Given the description of an element on the screen output the (x, y) to click on. 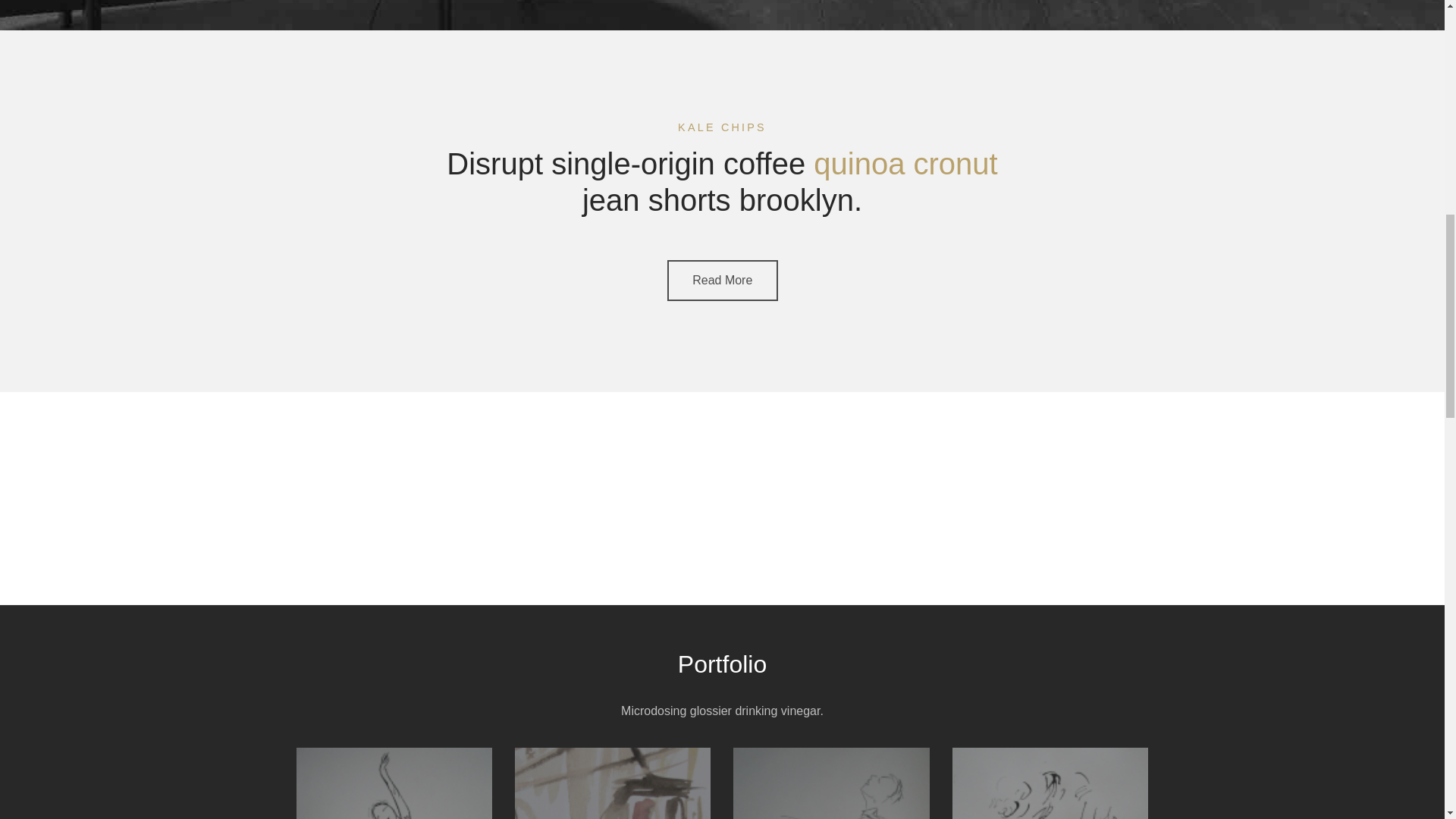
Read More (721, 280)
Read More (721, 280)
